Given the description of an element on the screen output the (x, y) to click on. 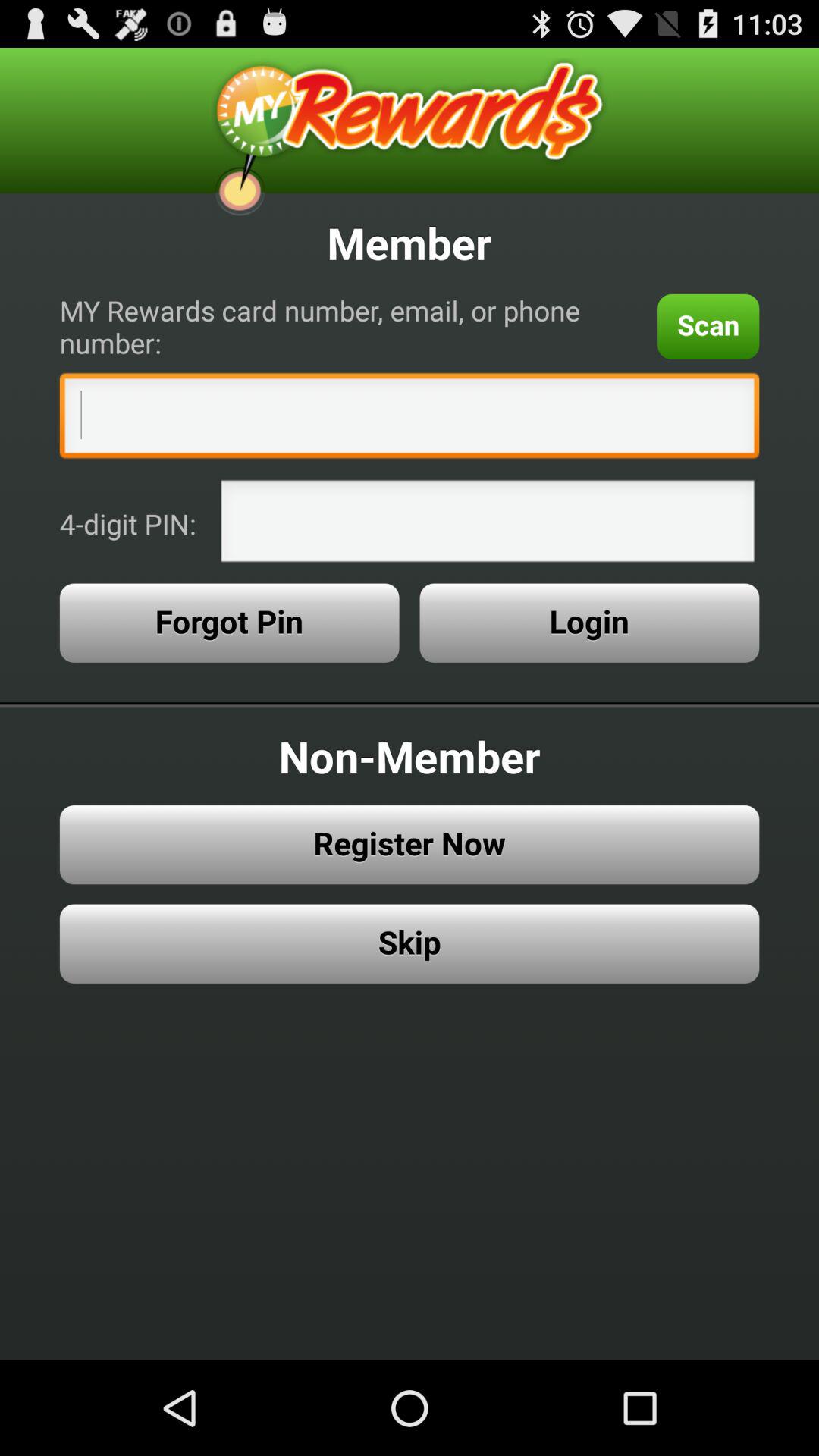
flip until the register now icon (409, 844)
